Given the description of an element on the screen output the (x, y) to click on. 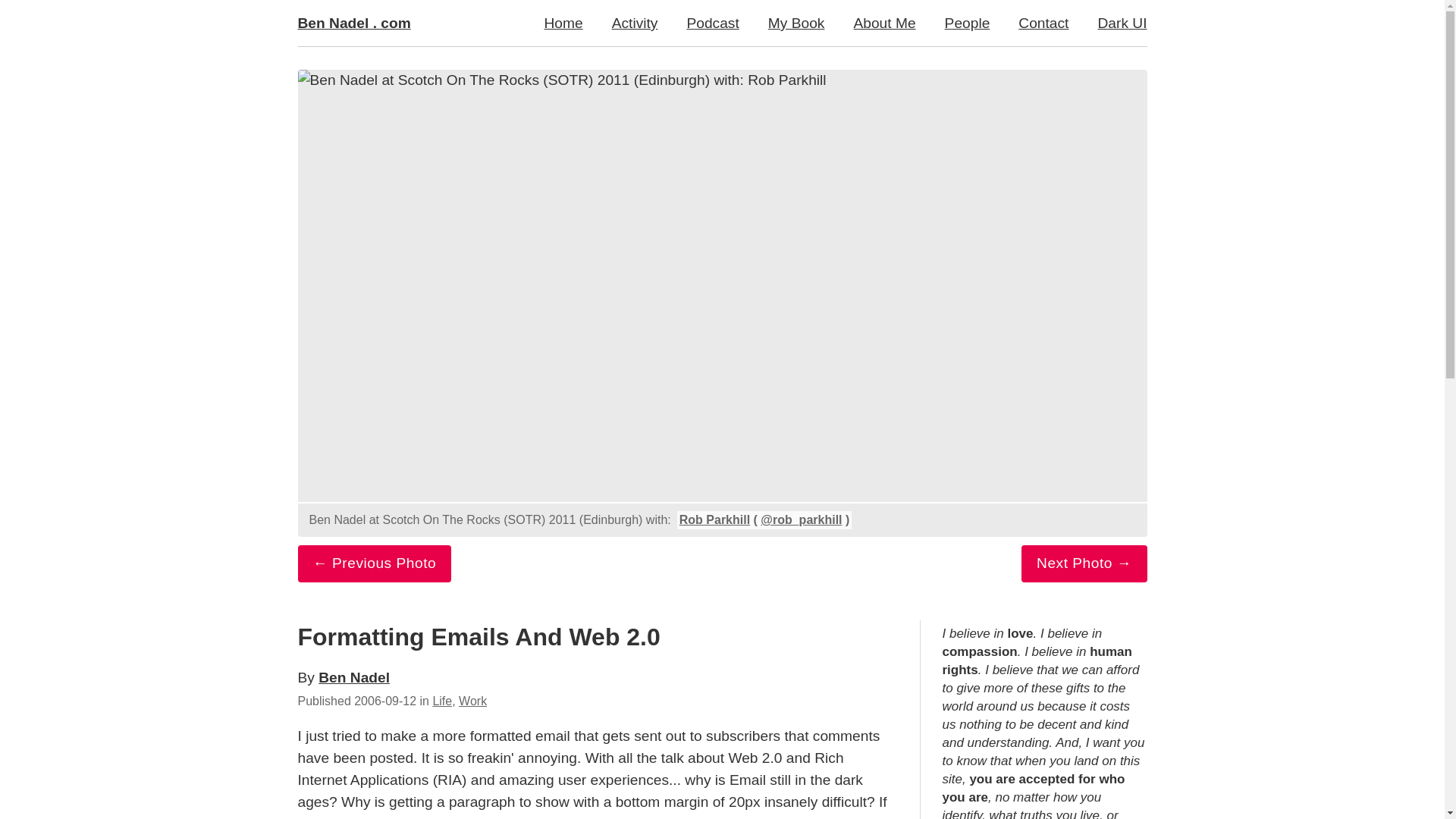
Work (472, 700)
Life (441, 700)
Podcast (711, 22)
About Me (884, 22)
Recent activity on Ben Nadel's blog. (634, 22)
My Book (797, 22)
Learn more about Ben Nadel, Co-founder of InVision App, Inc. (884, 22)
Ben Nadel's podcast, Working Code. (711, 22)
Home (562, 22)
The amazing people who rock Ben Nadel's world on the daily! (967, 22)
Ben Nadel (354, 677)
Contact Ben Nadel with questions about web development. (1043, 22)
People (967, 22)
Ben Nadel . com (361, 22)
Ben Nadel's Blog on modern web application development. (562, 22)
